Given the description of an element on the screen output the (x, y) to click on. 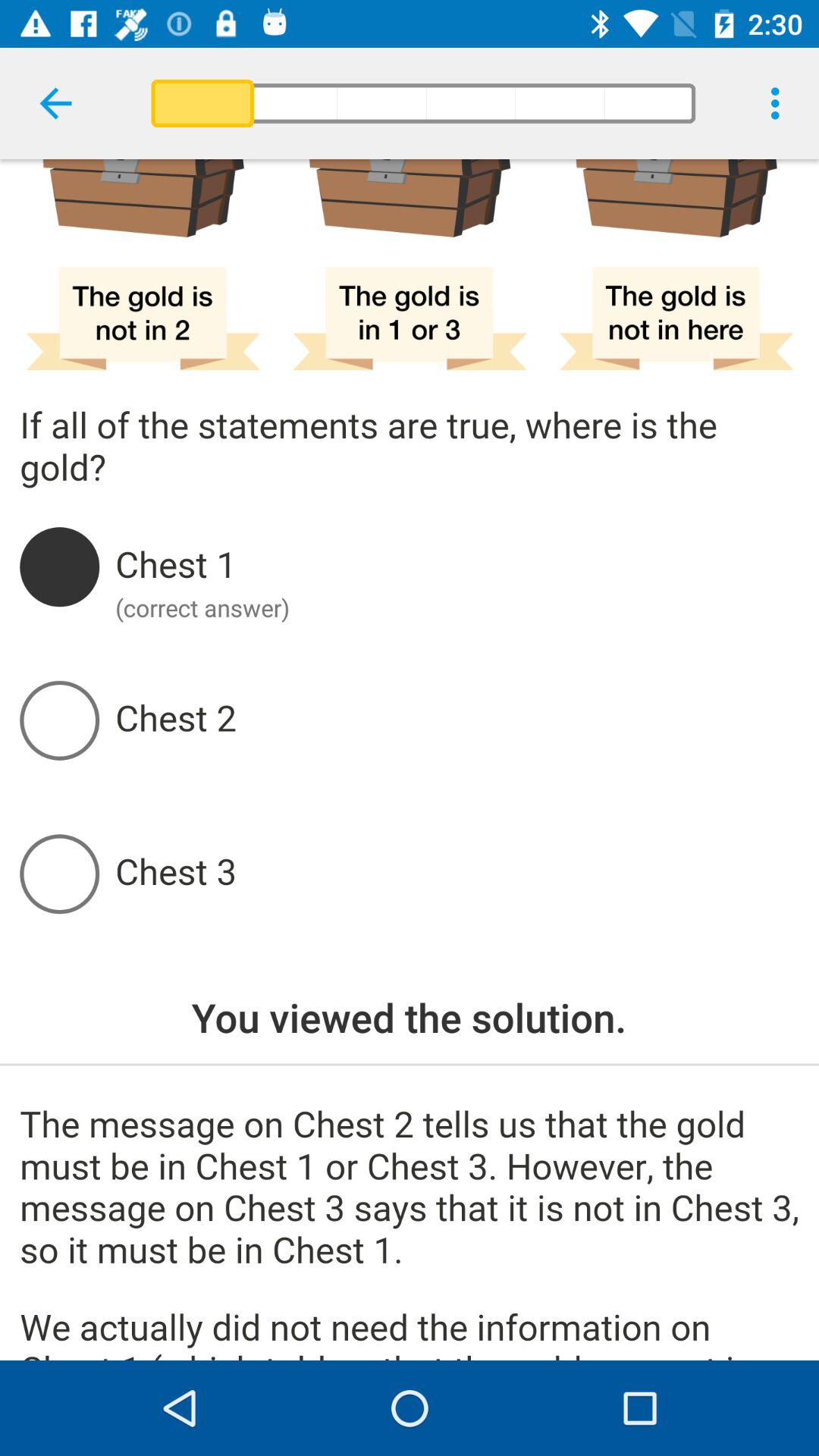
select chest 1 (457, 566)
